Given the description of an element on the screen output the (x, y) to click on. 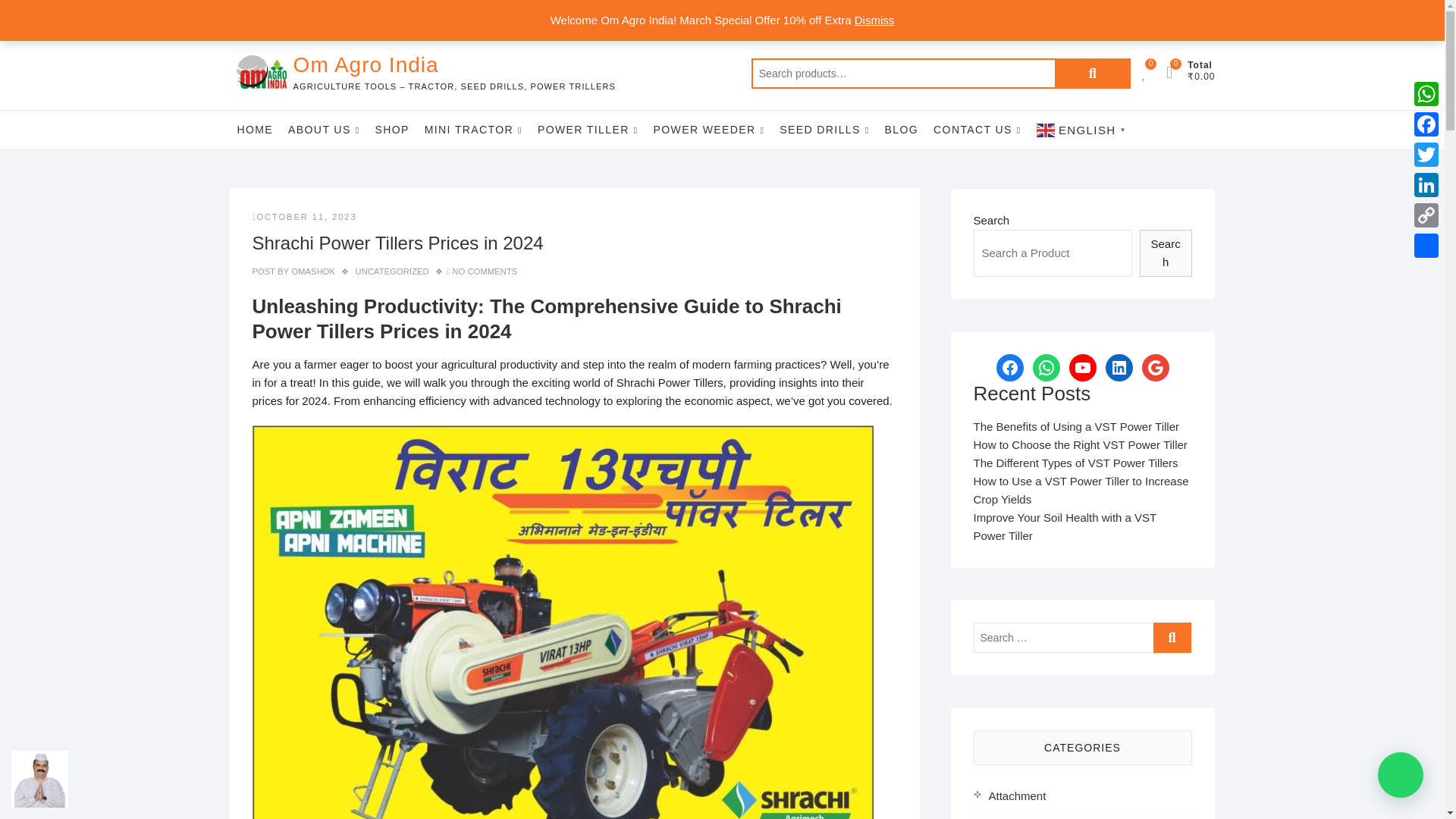
POWER WEEDER (709, 129)
MINI TRACTOR (472, 129)
9:00 am (303, 216)
Om Agro India (454, 63)
HOME (254, 129)
My Account (1087, 15)
Join Affiliate Program (1165, 15)
